Given the description of an element on the screen output the (x, y) to click on. 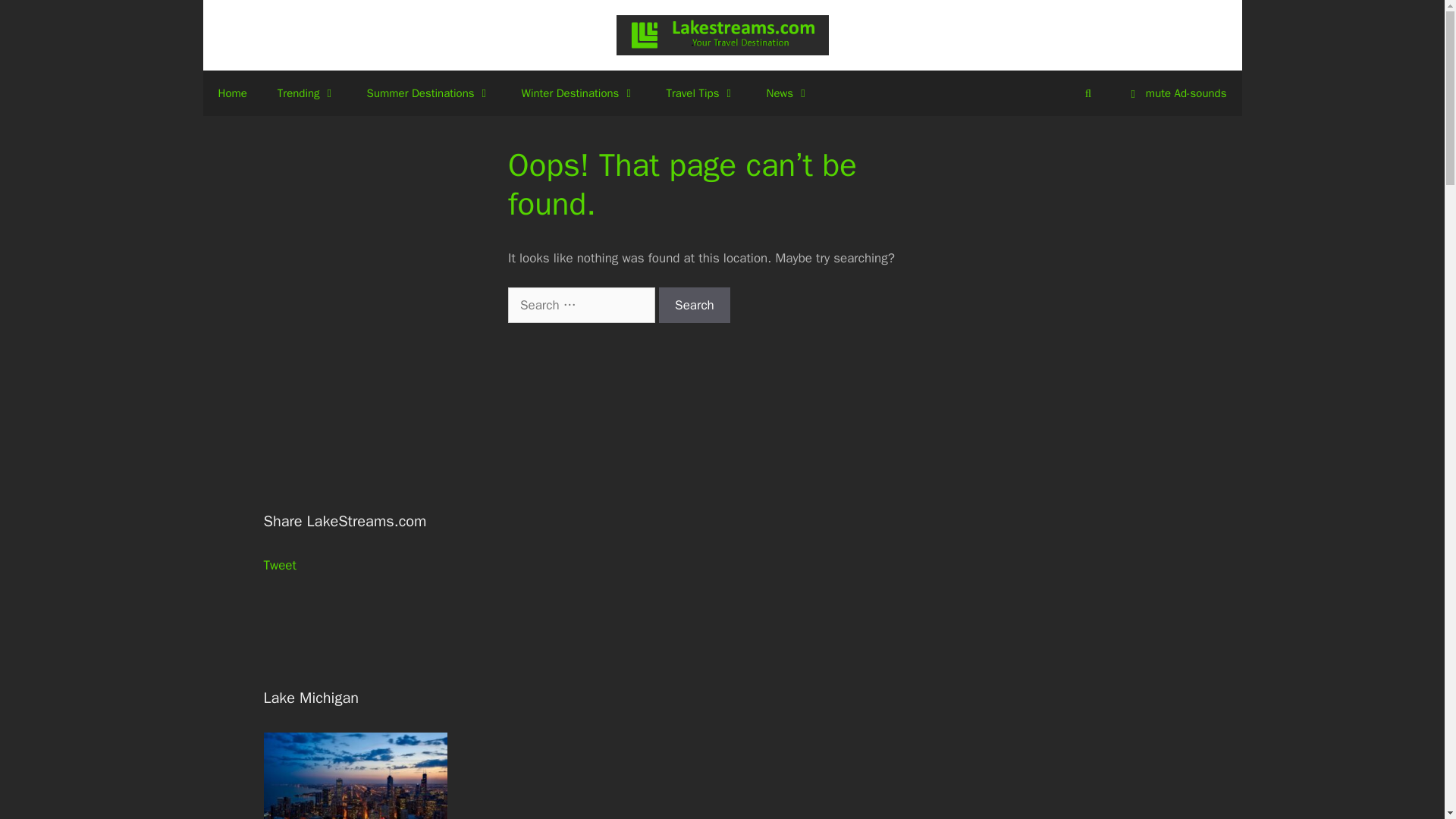
Home (232, 93)
Lakestreams.com (721, 35)
Search (694, 305)
Lakestreams.com (721, 34)
Trending (307, 93)
Search (694, 305)
Search for: (581, 305)
